Given the description of an element on the screen output the (x, y) to click on. 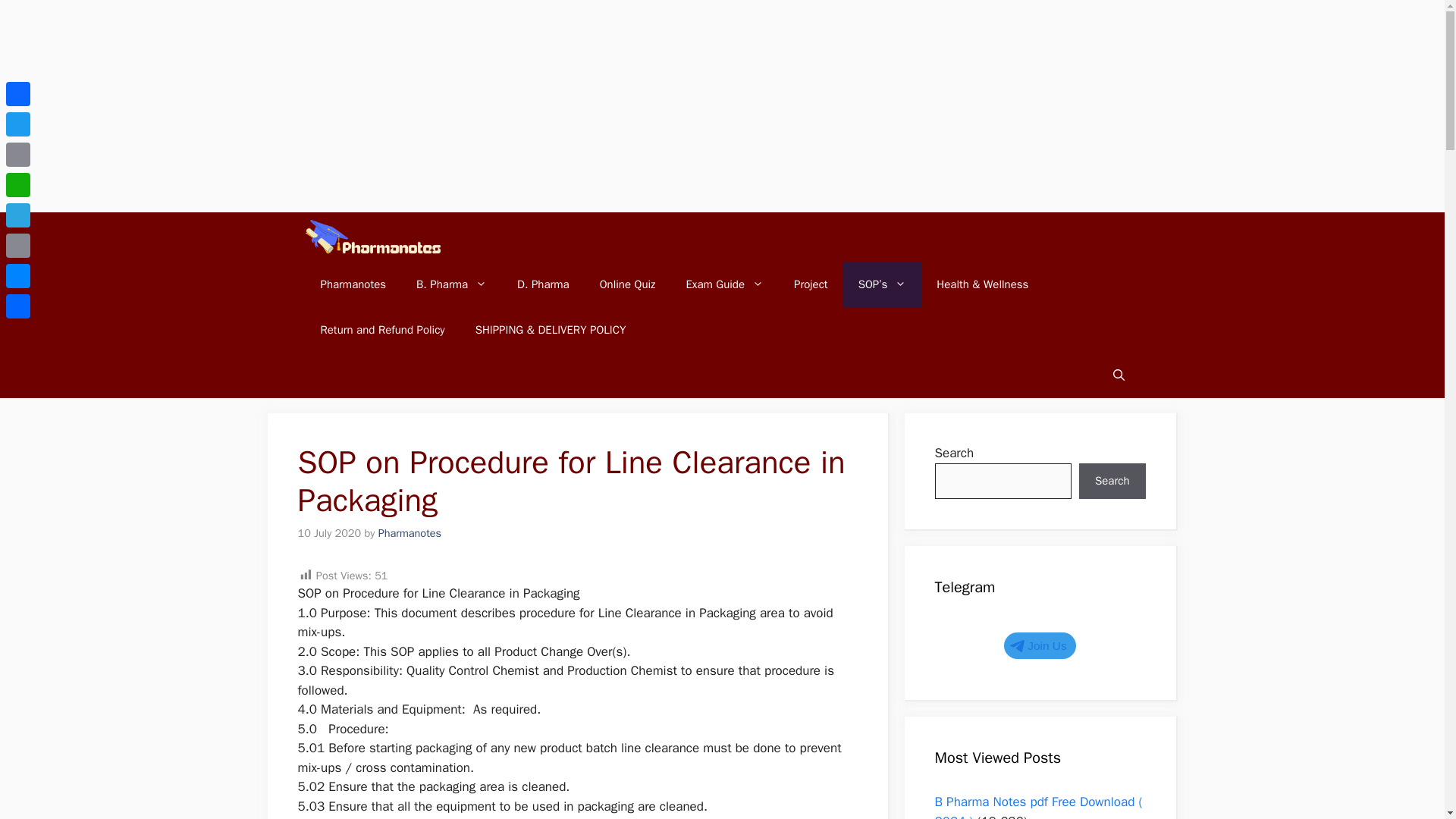
Pharmanotes (371, 236)
Pharmanotes (352, 284)
Exam Guide (723, 284)
View all posts by Pharmanotes (409, 532)
Online Quiz (628, 284)
Project (810, 284)
D. Pharma (543, 284)
B. Pharma (451, 284)
